Given the description of an element on the screen output the (x, y) to click on. 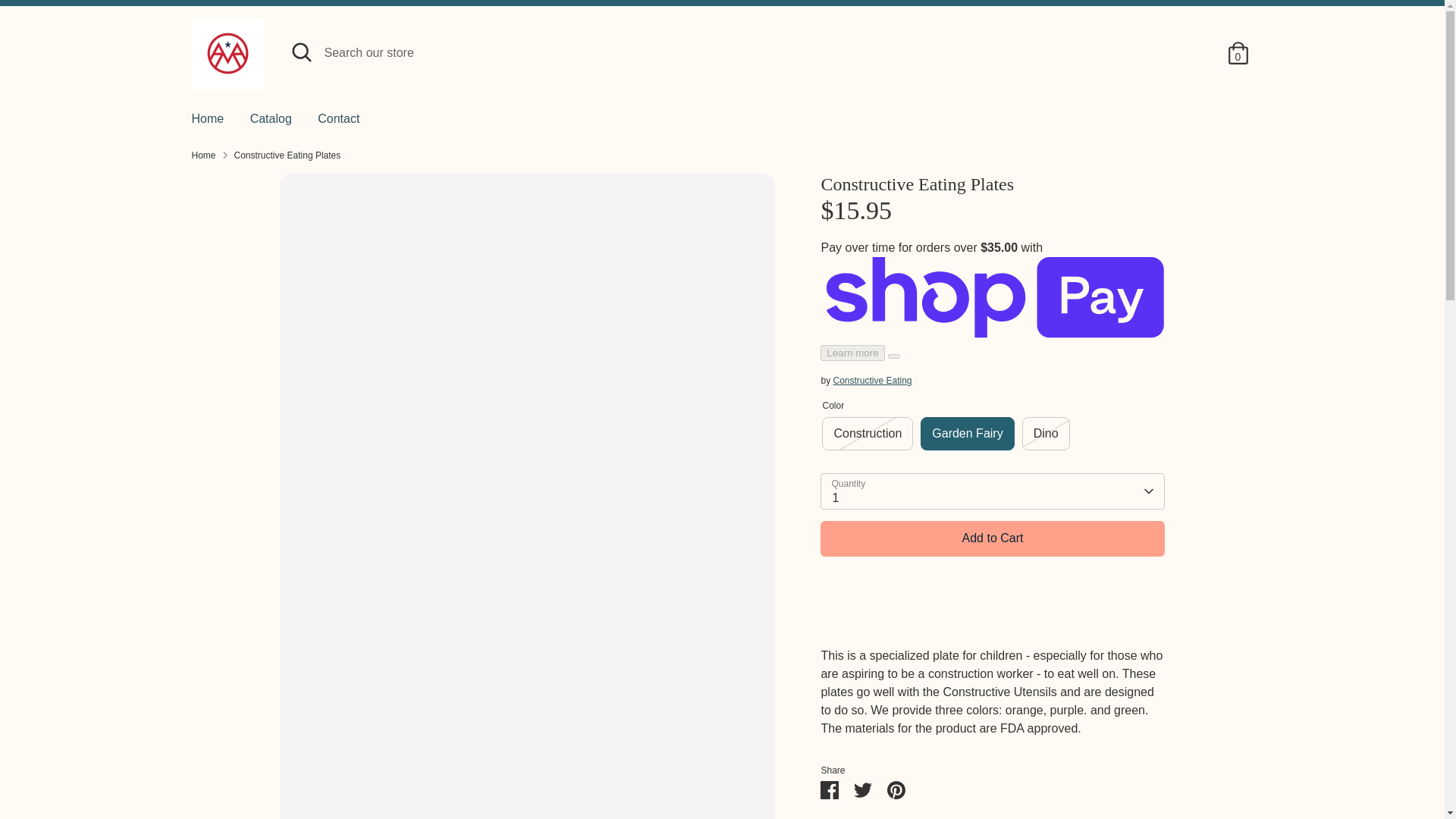
American Express (932, 771)
Shop Pay (1176, 771)
Share on Facebook (829, 787)
PayPal (1145, 771)
Add to Cart (992, 538)
Diners Club (994, 771)
Meta Pay (1054, 771)
Constructive Eating Plates (287, 155)
Constructive Eating (871, 380)
0 (1237, 52)
